Given the description of an element on the screen output the (x, y) to click on. 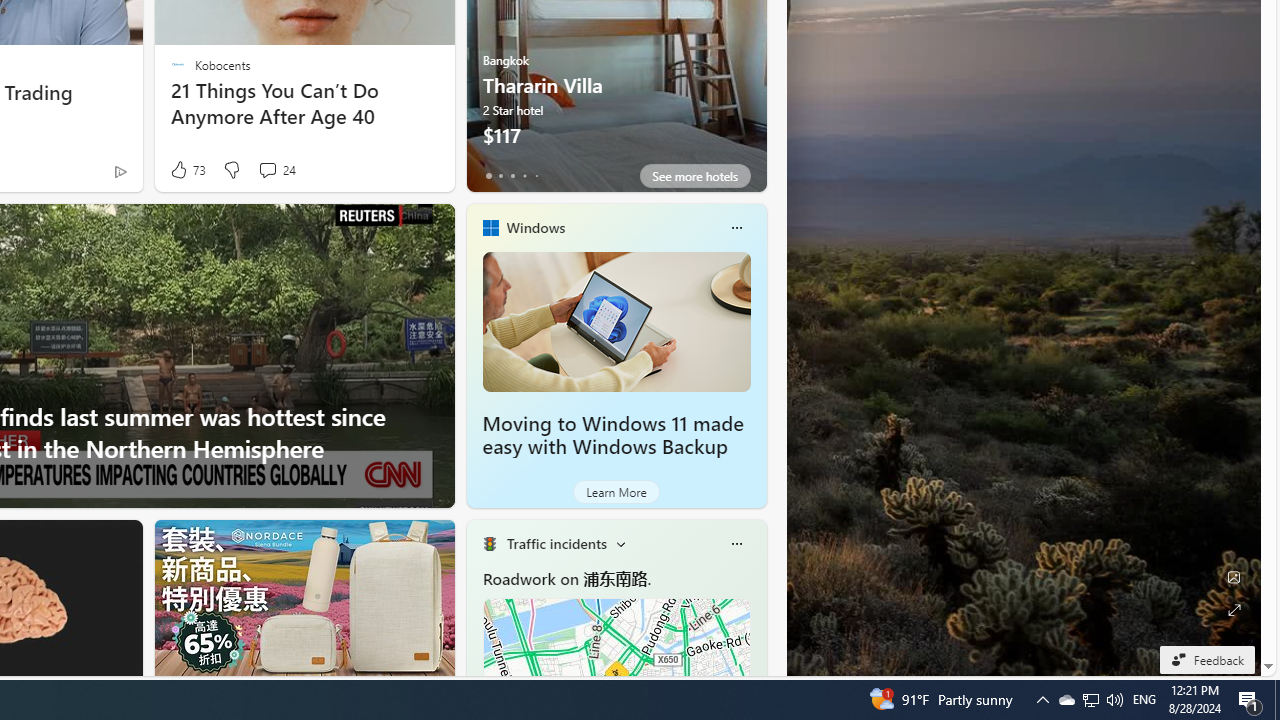
Class: icon-img (736, 543)
Moving to Windows 11 made easy with Windows Backup (612, 435)
tab-4 (535, 175)
Traffic incidents (555, 543)
Edit Background (1233, 577)
tab-0 (488, 175)
